Given the description of an element on the screen output the (x, y) to click on. 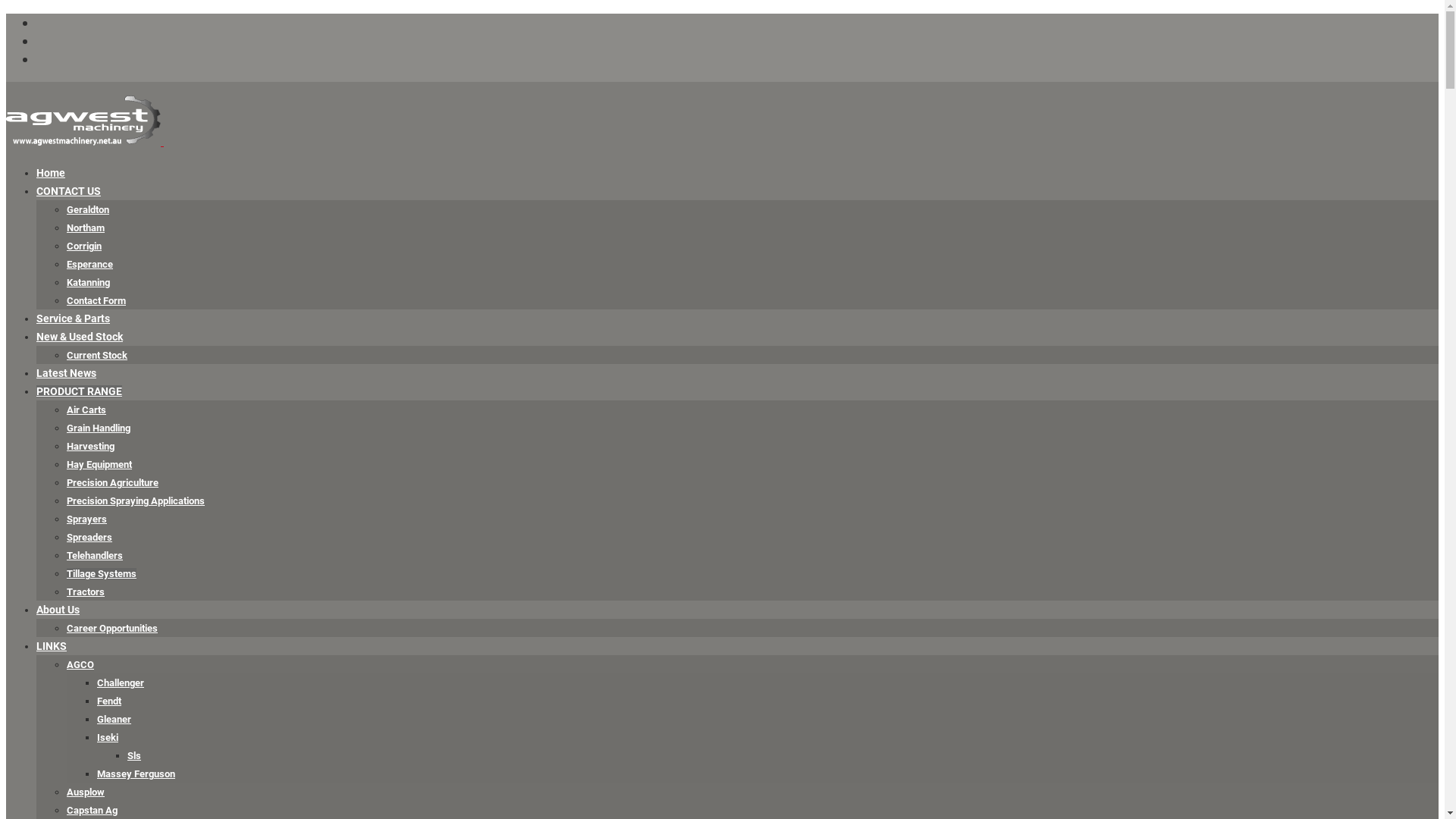
Precision Agriculture Element type: text (112, 482)
Challenger Element type: text (120, 682)
Tillage Systems Element type: text (101, 573)
Sprayers Element type: text (86, 518)
Air Carts Element type: text (86, 409)
Grain Handling Element type: text (98, 427)
Harvesting Element type: text (90, 445)
Tractors Element type: text (85, 591)
AGCO Element type: text (80, 664)
Fendt Element type: text (109, 700)
Ausplow Element type: text (85, 791)
CONTACT US Element type: text (68, 191)
Katanning Element type: text (87, 282)
Iseki Element type: text (107, 737)
Telehandlers Element type: text (94, 555)
Gleaner Element type: text (114, 718)
Capstan Ag Element type: text (91, 809)
Spreaders Element type: text (89, 536)
Northam Element type: text (85, 227)
PRODUCT RANGE Element type: text (79, 391)
Corrigin Element type: text (83, 245)
Current Stock Element type: text (96, 354)
Hay Equipment Element type: text (98, 464)
Career Opportunities Element type: text (111, 627)
Latest News Element type: text (66, 373)
Service & Parts Element type: text (72, 318)
Contact Form Element type: text (95, 300)
Precision Spraying Applications Element type: text (135, 500)
Home Element type: text (50, 172)
LINKS Element type: text (51, 646)
About Us Element type: text (57, 609)
Esperance Element type: text (89, 263)
Geraldton Element type: text (87, 209)
New & Used Stock Element type: text (79, 336)
Massey Ferguson Element type: text (136, 773)
Sls Element type: text (134, 755)
